Given the description of an element on the screen output the (x, y) to click on. 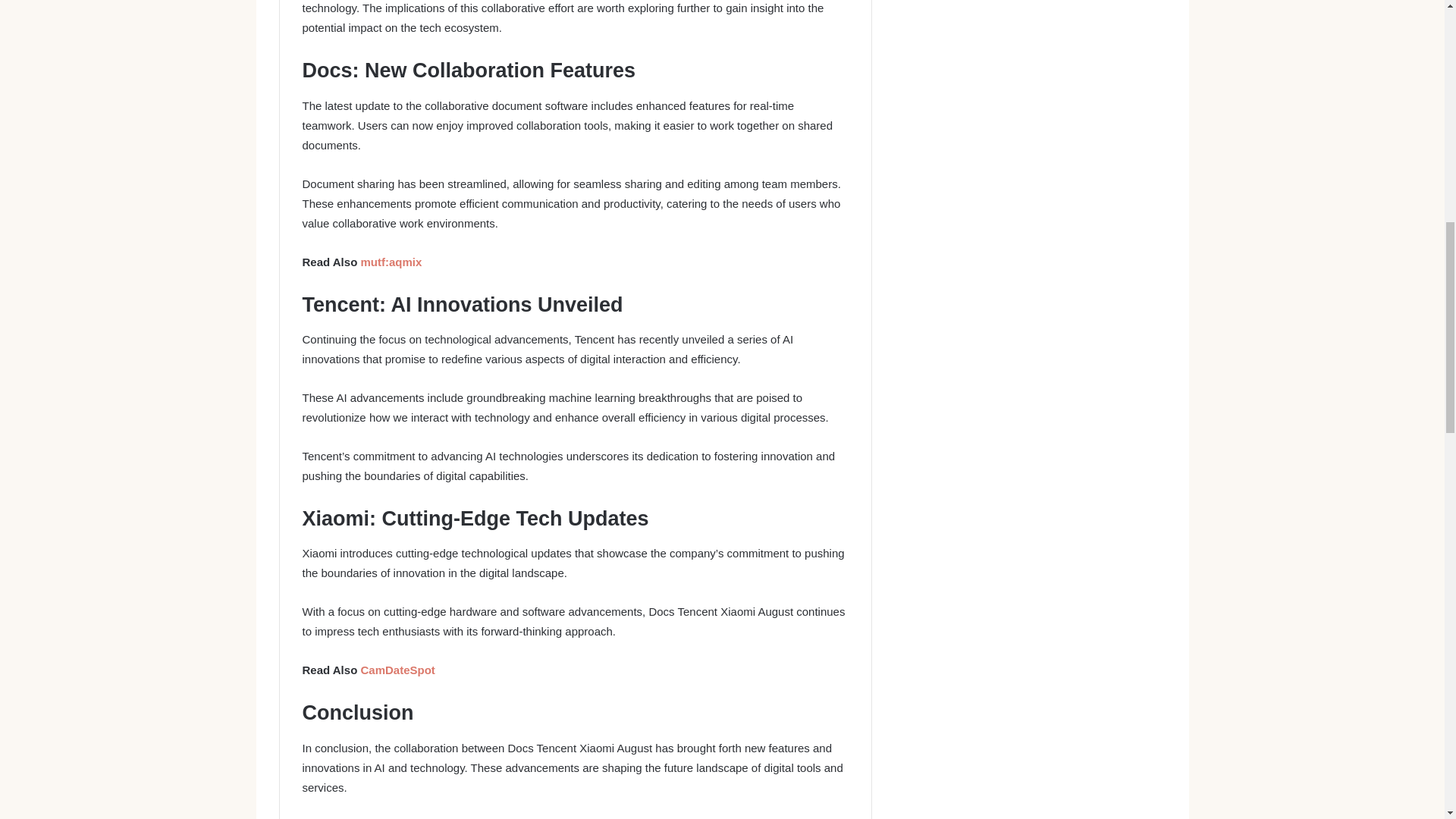
mutf:aqmix (390, 261)
CamDateSpot (396, 669)
